Given the description of an element on the screen output the (x, y) to click on. 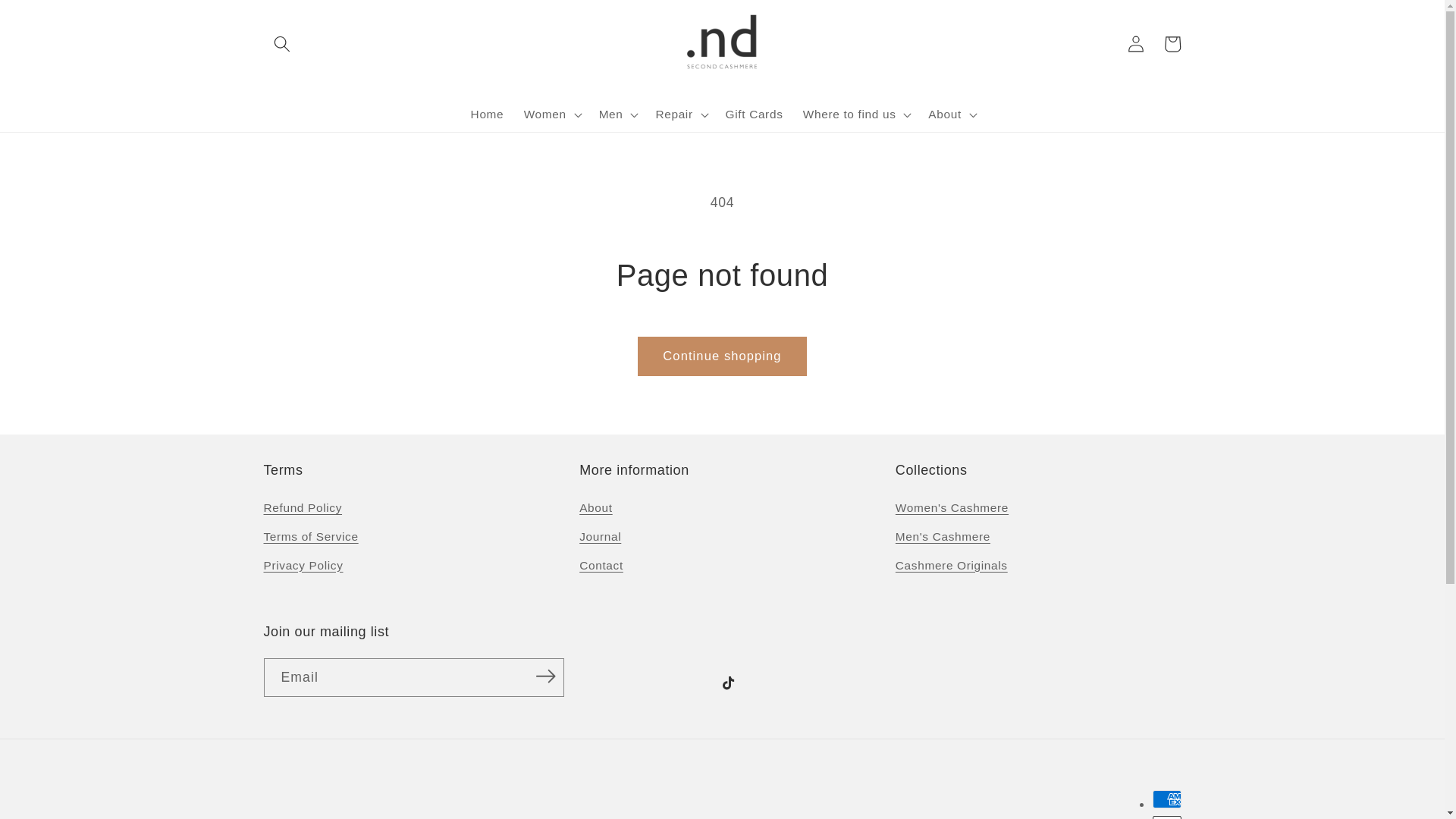
Skip to content (50, 19)
Apple Pay (1166, 817)
American Express (1166, 799)
